Given the description of an element on the screen output the (x, y) to click on. 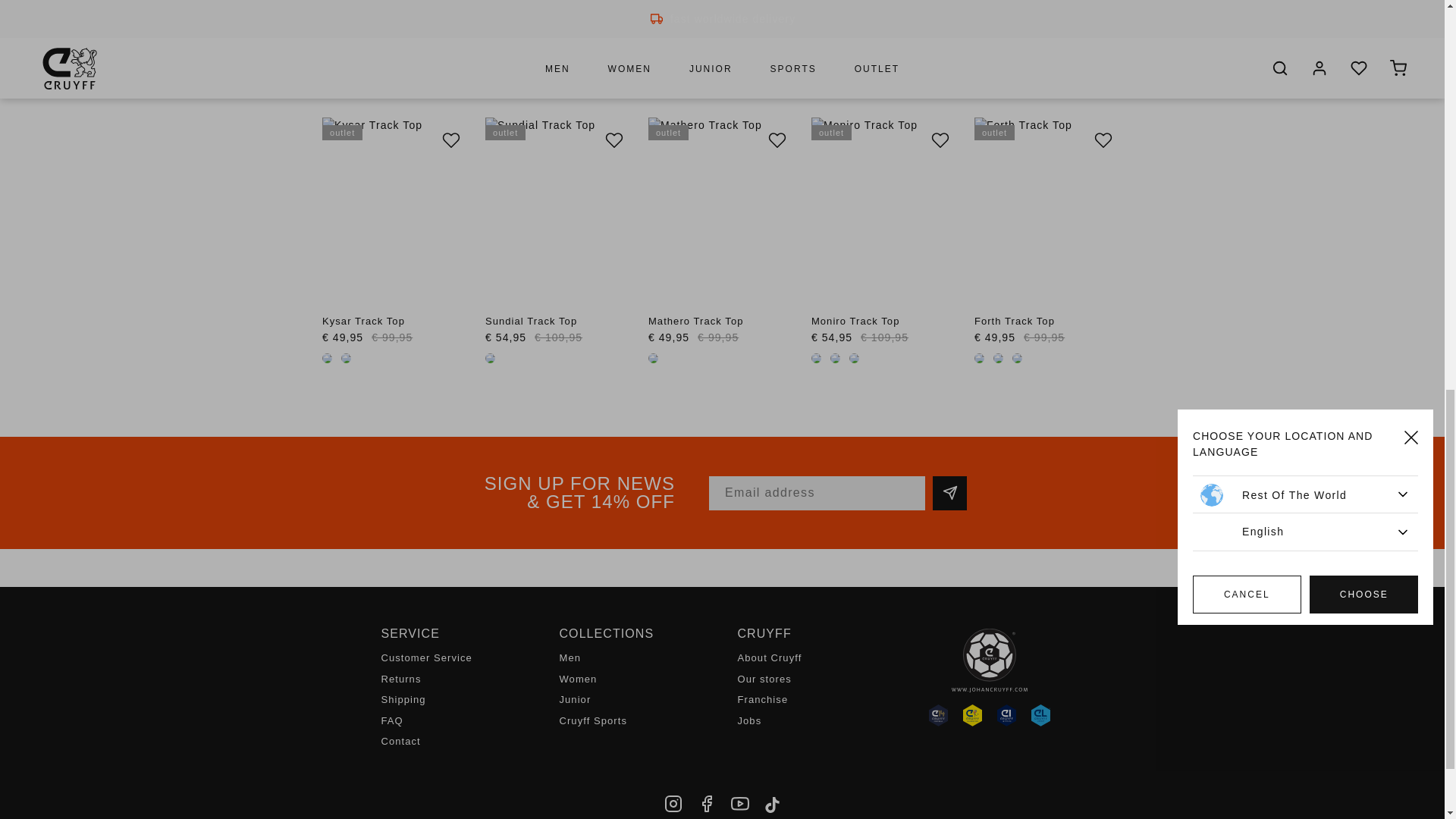
Wishlist (613, 140)
Wishlist (776, 140)
Wishlist (450, 140)
